Given the description of an element on the screen output the (x, y) to click on. 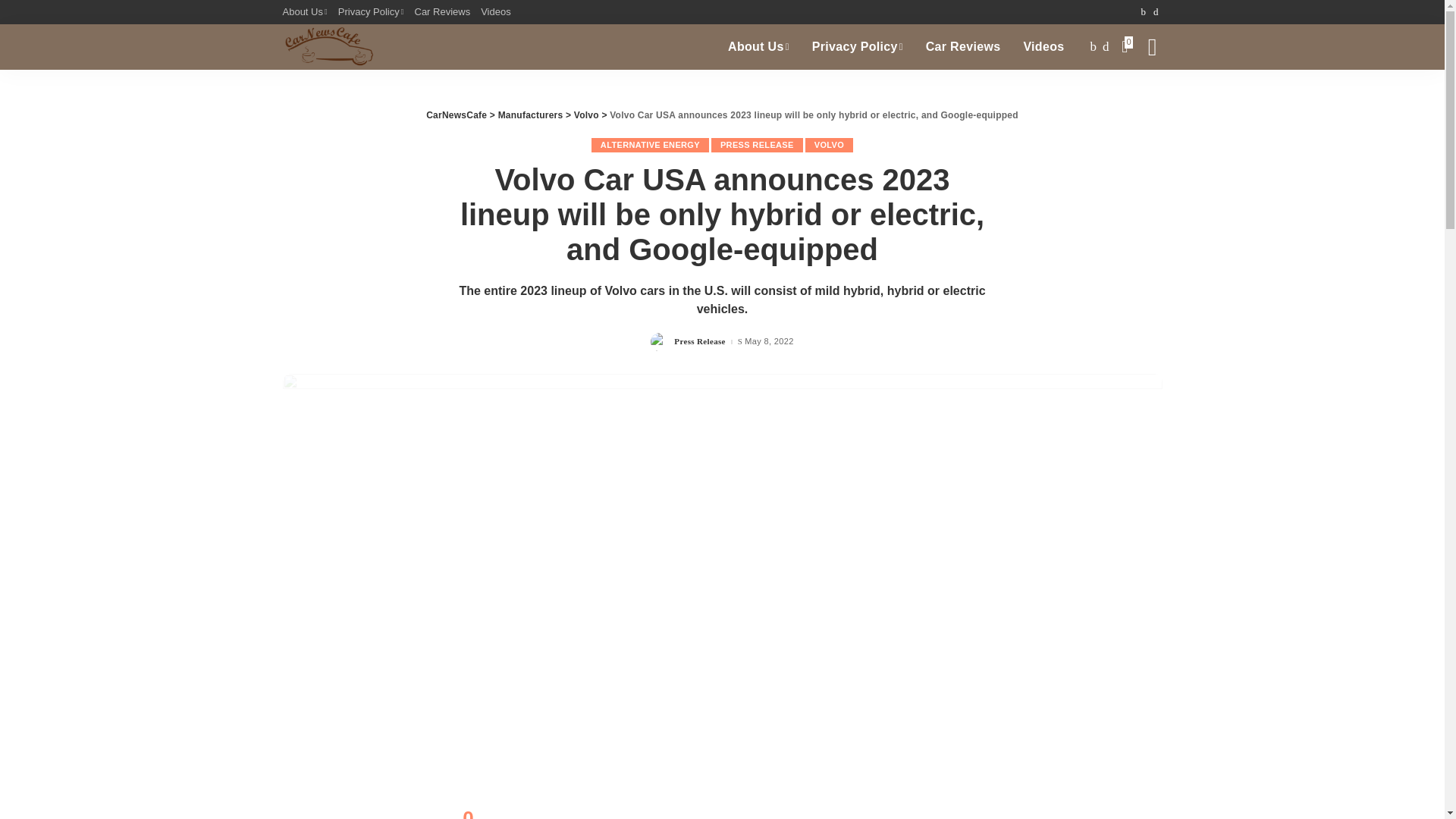
About Us (306, 12)
Go to the Volvo Category archives. (585, 114)
Car Reviews (442, 12)
Search (1140, 97)
2022-05-08T23:13:55-04:00 (768, 341)
CarNewsCafe (328, 46)
Go to CarNewsCafe. (456, 114)
Car Reviews (962, 46)
Videos (496, 12)
Videos (1043, 46)
Go to the Manufacturers Category archives. (530, 114)
About Us (758, 46)
Privacy Policy (857, 46)
Privacy Policy (371, 12)
